Given the description of an element on the screen output the (x, y) to click on. 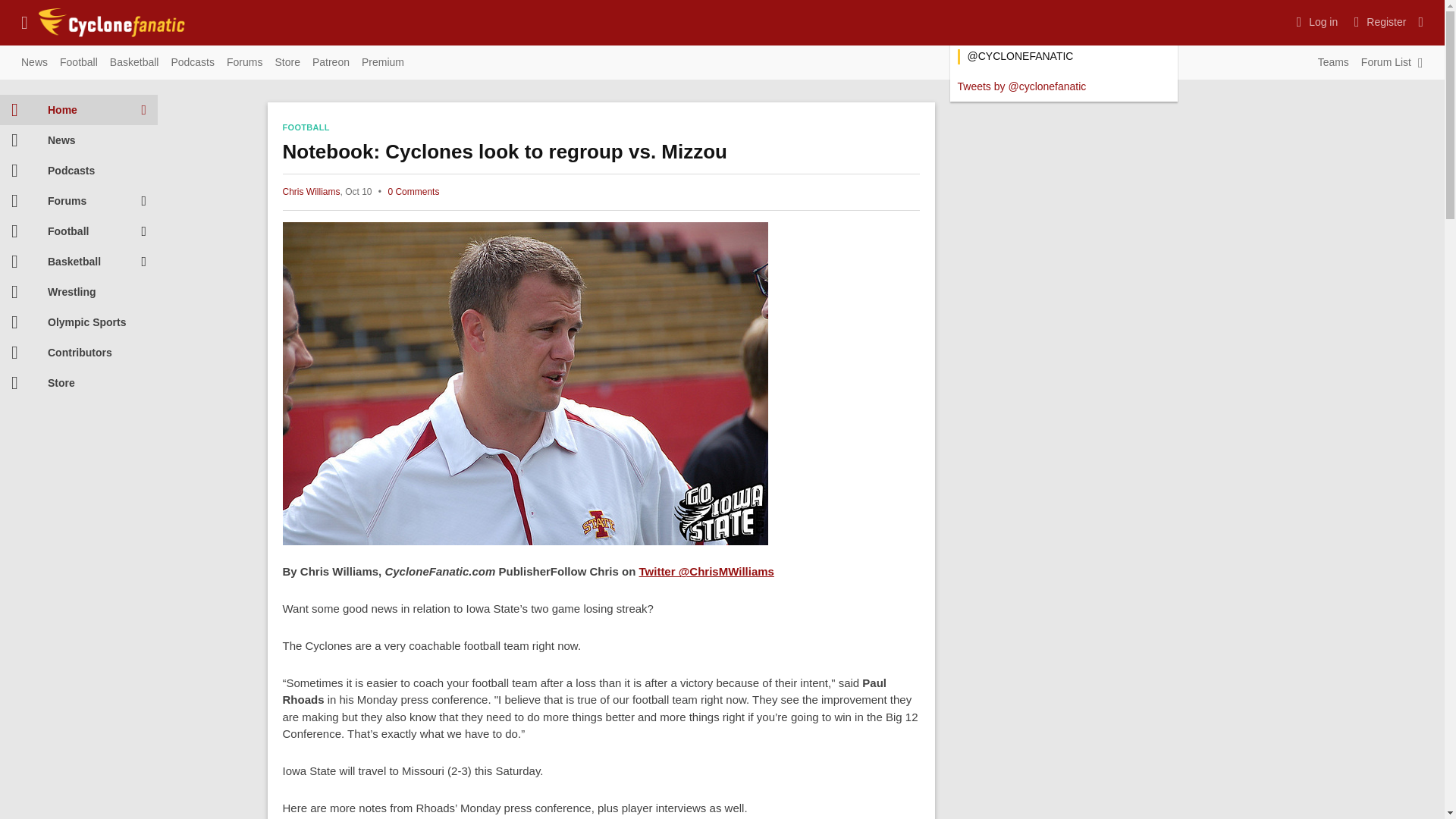
Forums (244, 63)
Premium (382, 63)
Store (286, 63)
Football (78, 63)
News (33, 63)
Register (1377, 21)
Patreon (330, 63)
Log in (1314, 21)
Forum List (1385, 63)
Basketball (134, 63)
